Given the description of an element on the screen output the (x, y) to click on. 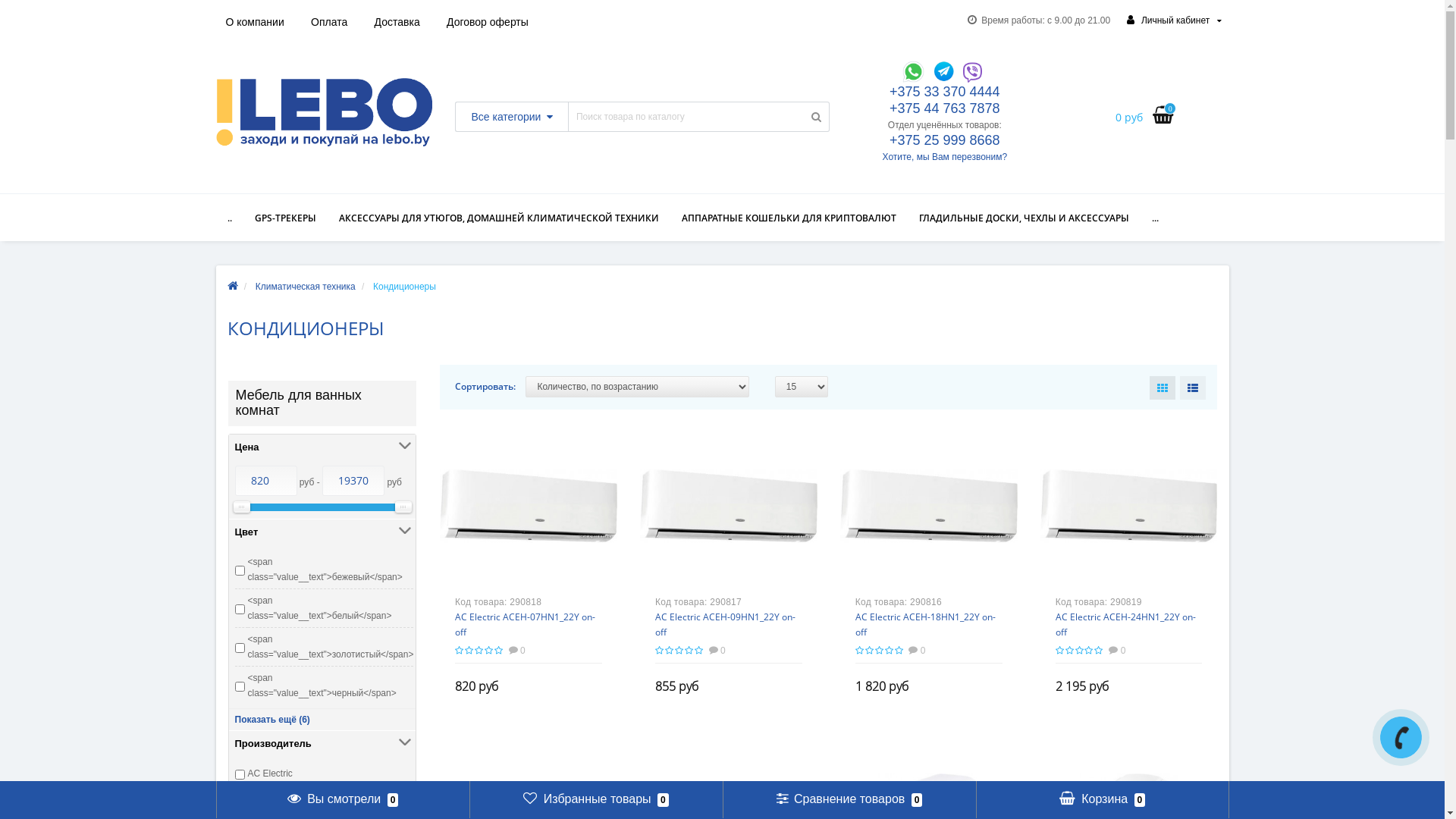
.. Element type: text (228, 218)
AC Electric ACEH-07HN1_22Y on-off Element type: text (525, 624)
AC Electric ACEH-24HN1_22Y on-off Element type: text (1125, 624)
+375 44 763 7878 Element type: text (944, 108)
... Element type: text (1155, 218)
AC Electric ACEH-18HN1_22Y on-off Element type: text (925, 624)
+375 25 999 8668 Element type: text (944, 139)
AC Electric ACEH-09HN1_22Y on-off Element type: text (725, 624)
+375 33 370 4444 Element type: text (944, 91)
